Given the description of an element on the screen output the (x, y) to click on. 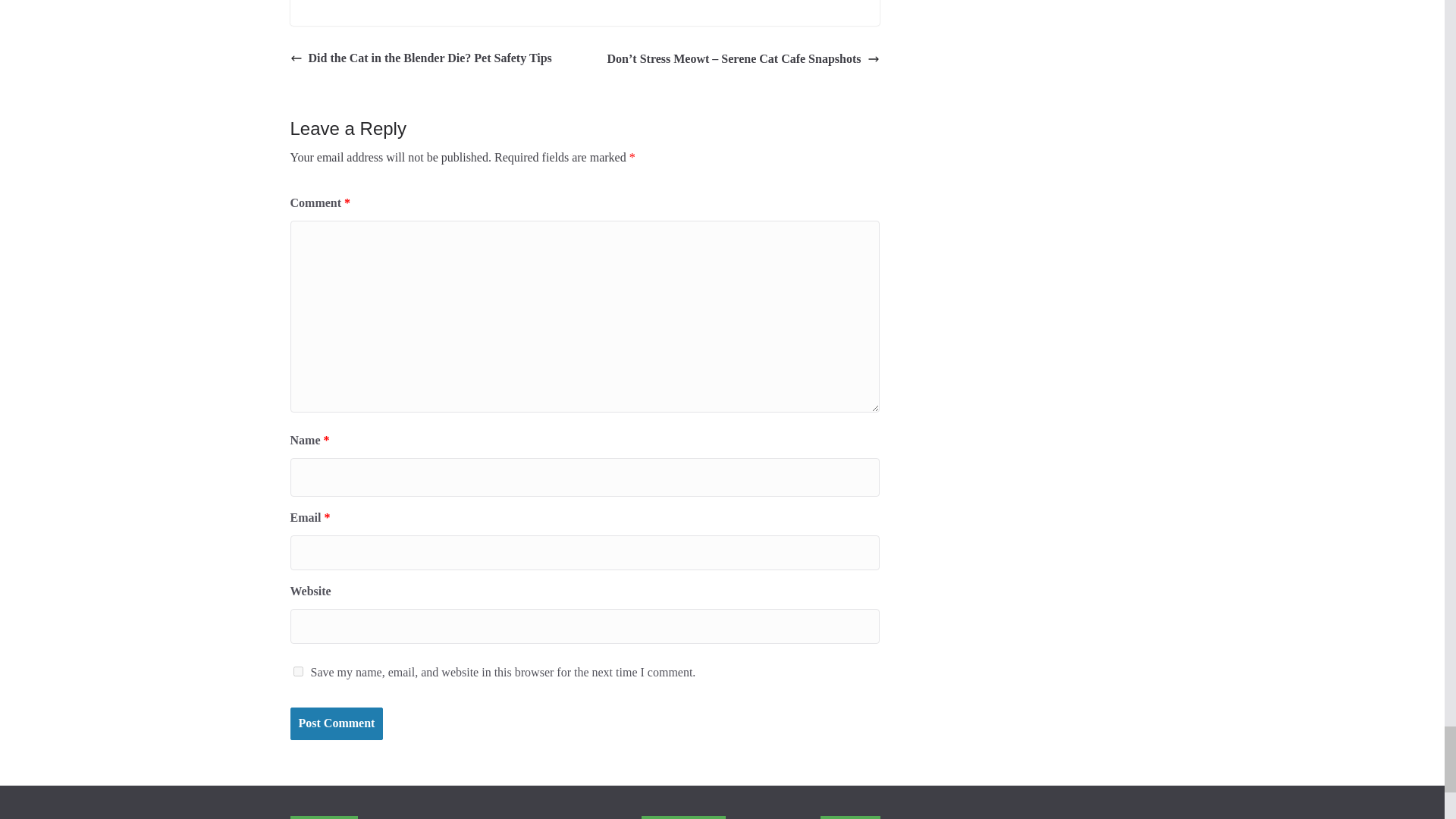
yes (297, 671)
Post Comment (335, 723)
